Given the description of an element on the screen output the (x, y) to click on. 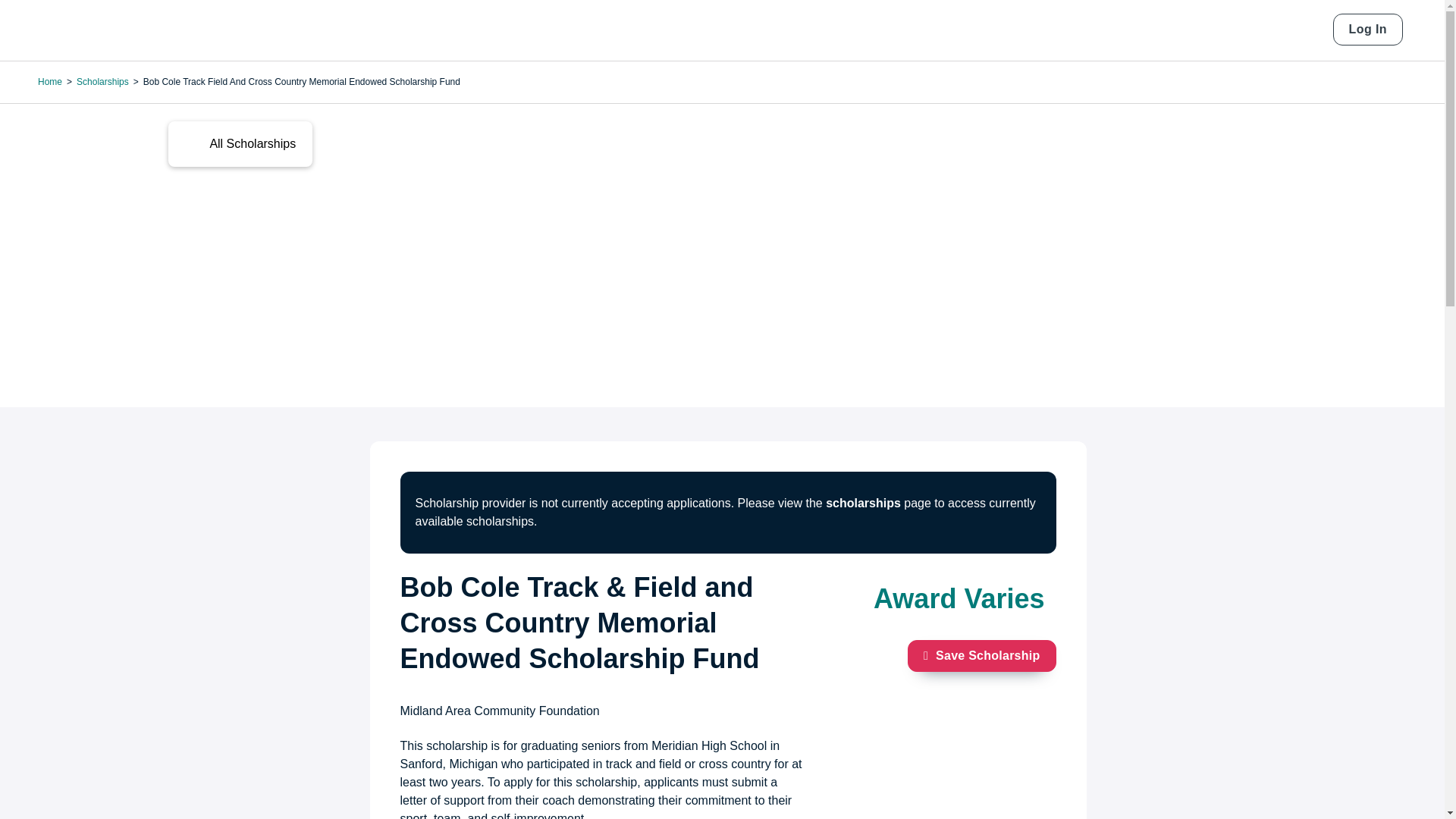
Home (90, 29)
